Given the description of an element on the screen output the (x, y) to click on. 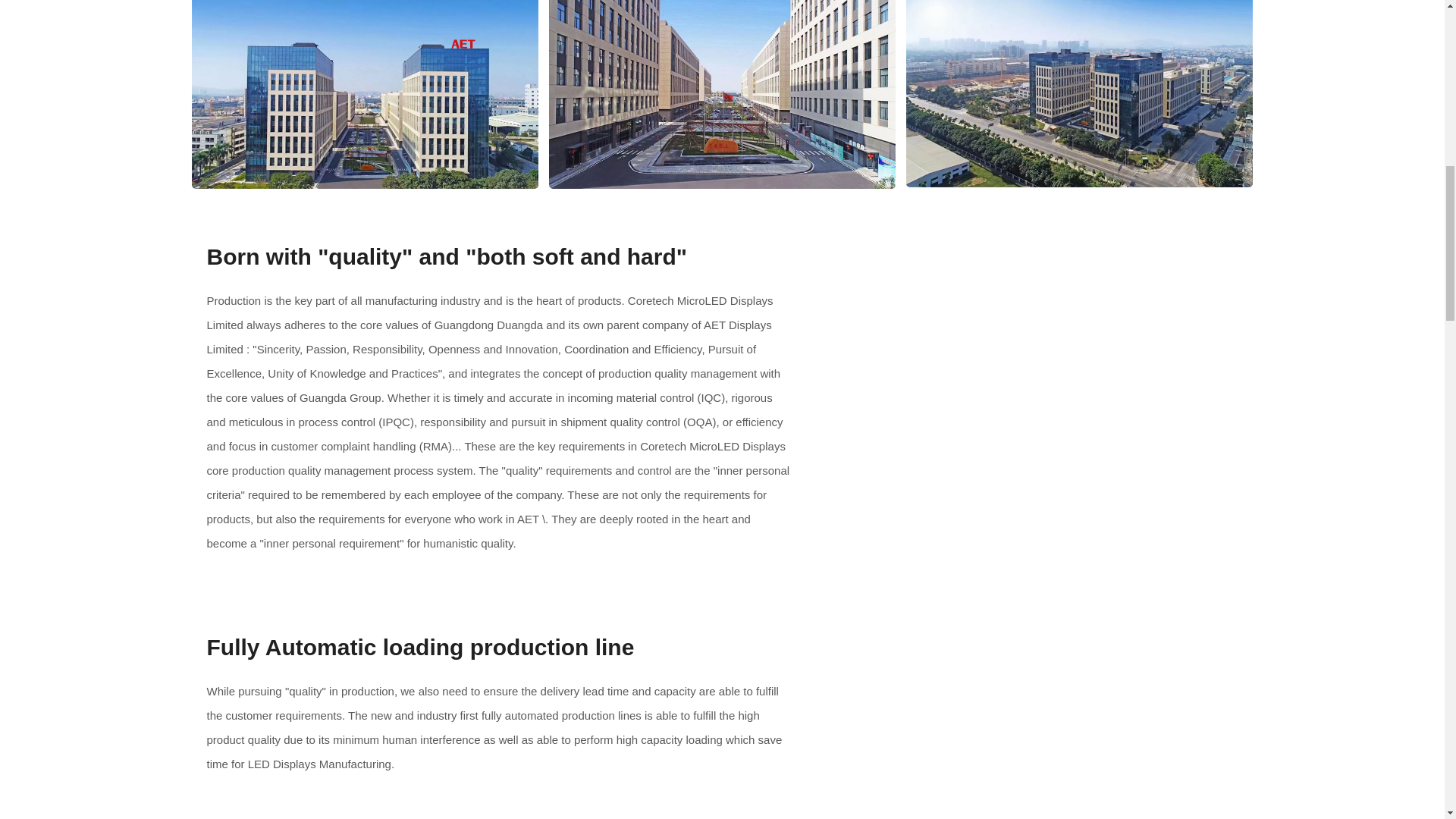
pic (1078, 93)
pic (721, 94)
Fully Automatic loading production line (1034, 721)
Born with "quality" and "both soft and hard" (1034, 381)
pic (363, 94)
